Given the description of an element on the screen output the (x, y) to click on. 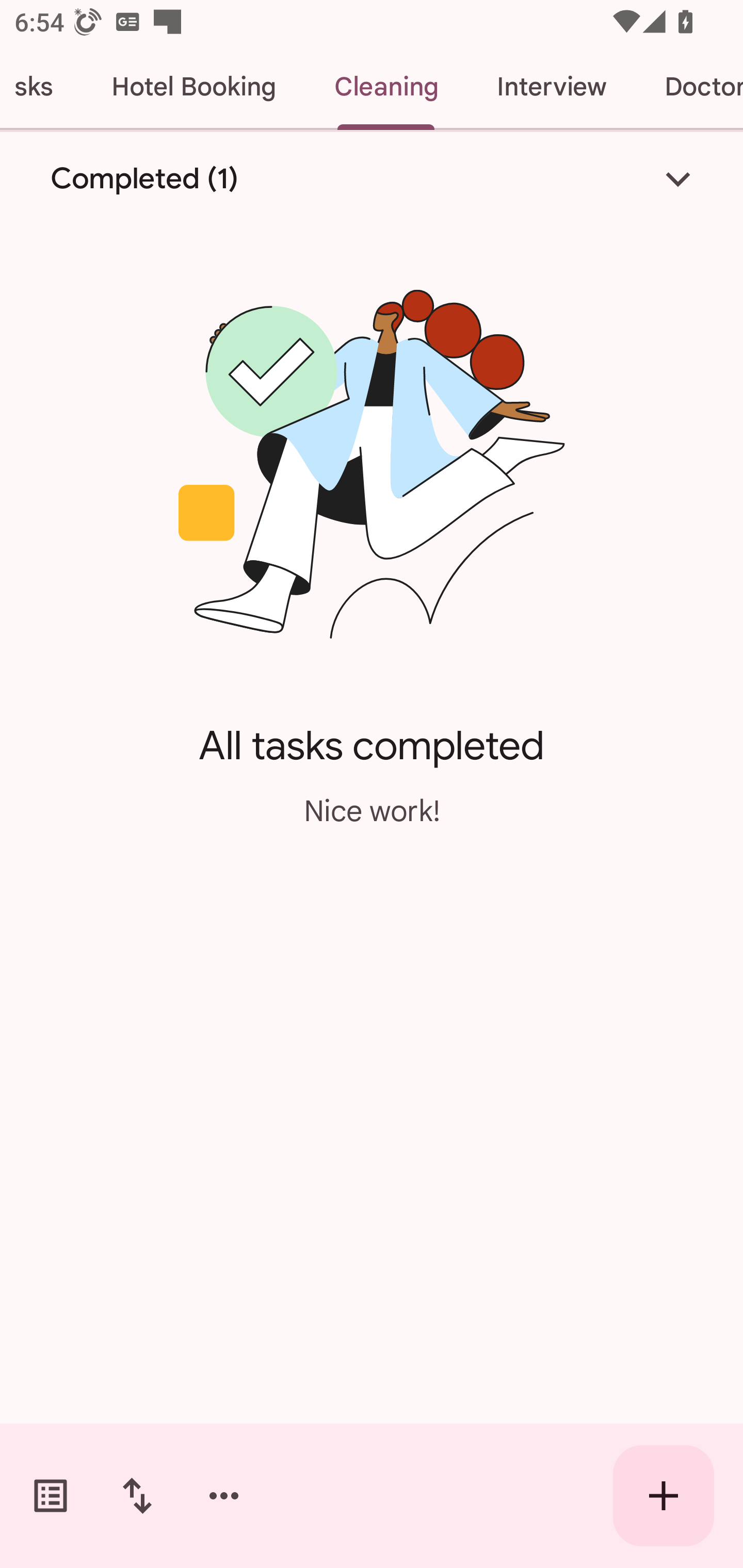
Hotel Booking (192, 86)
Interview (551, 86)
Doctor Appointment (689, 86)
Completed (1) (371, 178)
Switch task lists (50, 1495)
Create new task (663, 1495)
Change sort order (136, 1495)
More options (223, 1495)
